Given the description of an element on the screen output the (x, y) to click on. 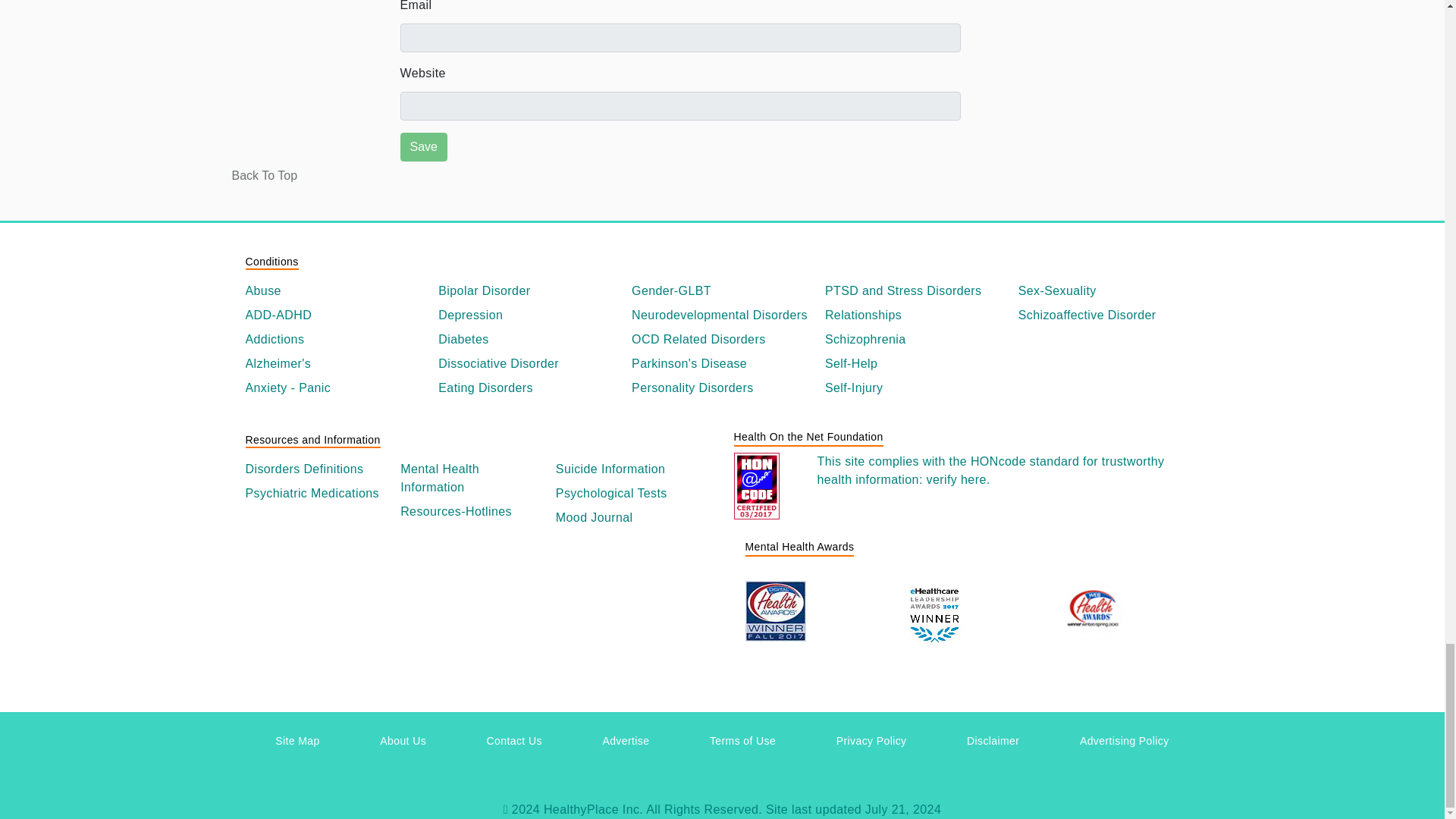
Parkinson's Disease Information Articles (721, 363)
